Given the description of an element on the screen output the (x, y) to click on. 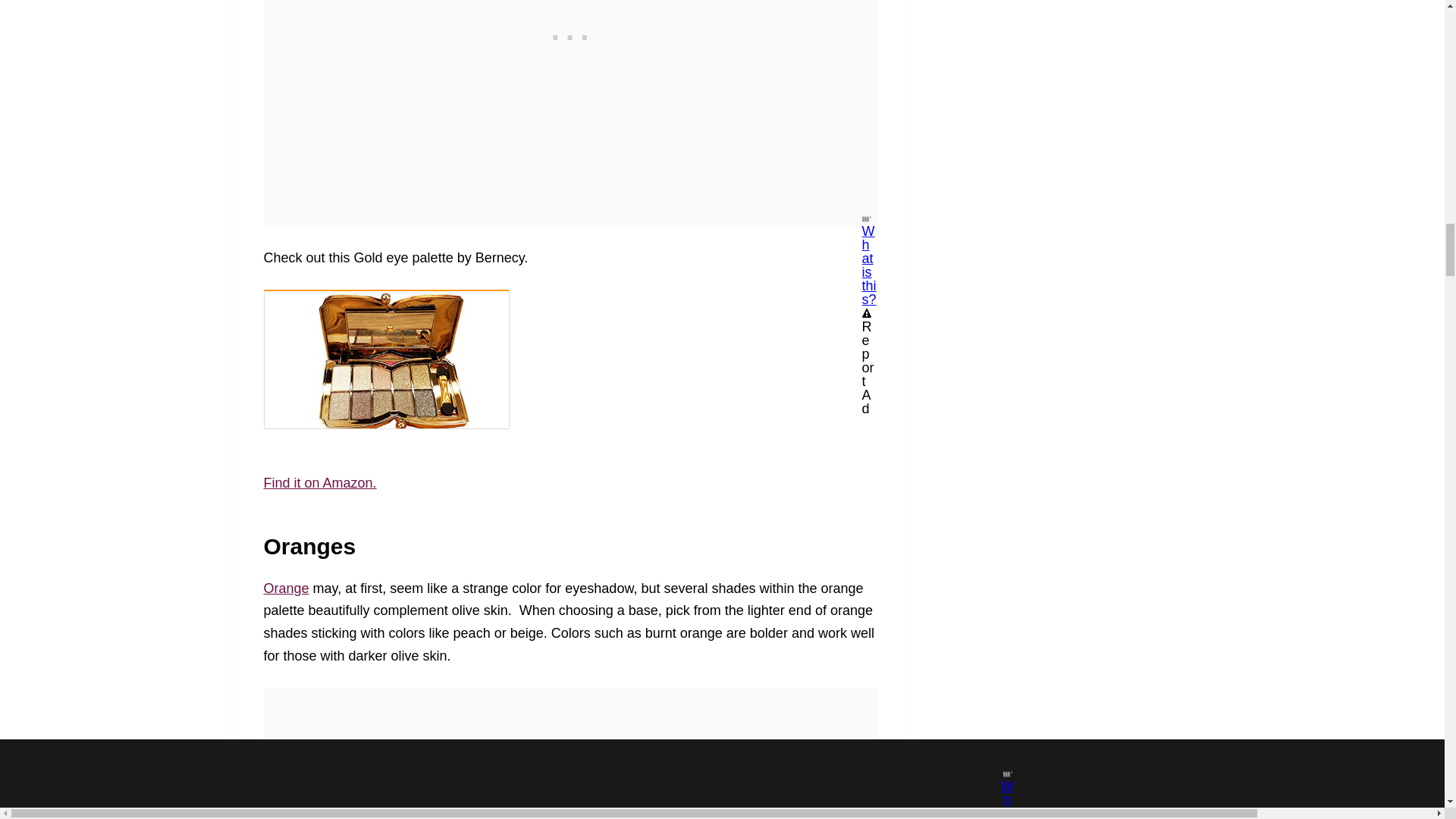
Orange (285, 588)
Find it on Amazon. (320, 482)
